Given the description of an element on the screen output the (x, y) to click on. 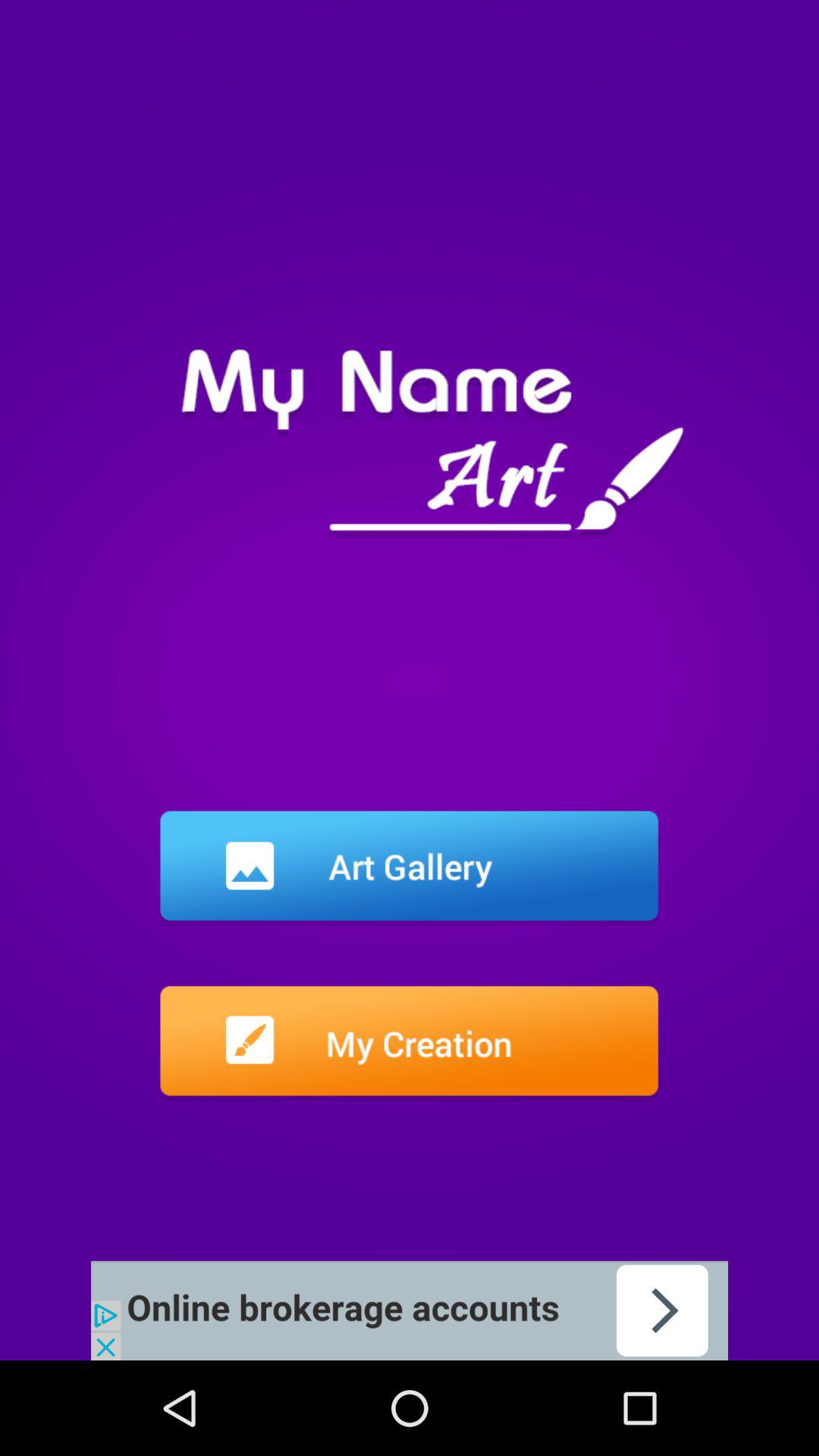
my creation (409, 1043)
